Given the description of an element on the screen output the (x, y) to click on. 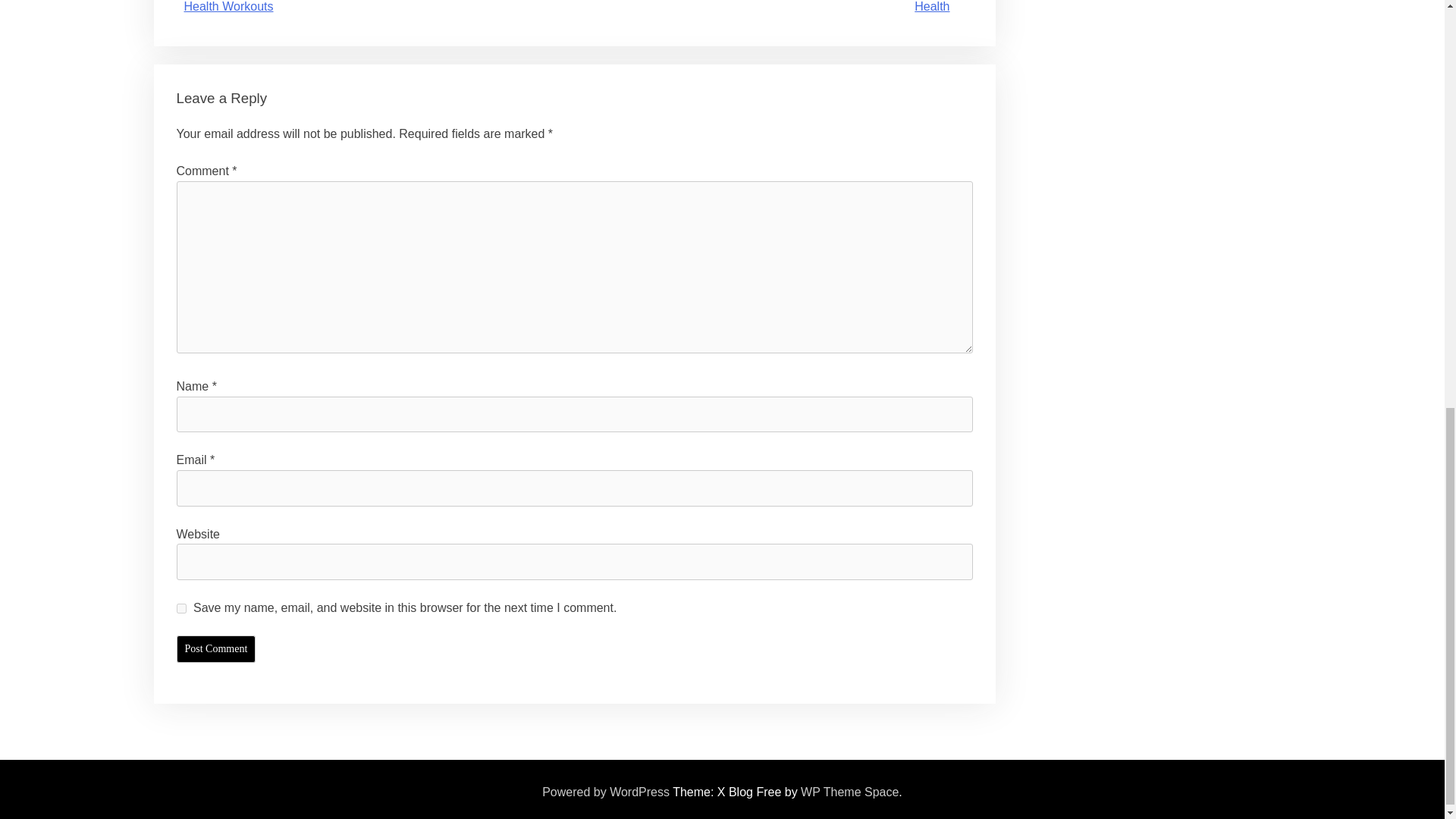
Post Comment (216, 648)
Powered by WordPress (605, 792)
Post Comment (216, 648)
WP Theme Space (849, 792)
yes (181, 608)
